Given the description of an element on the screen output the (x, y) to click on. 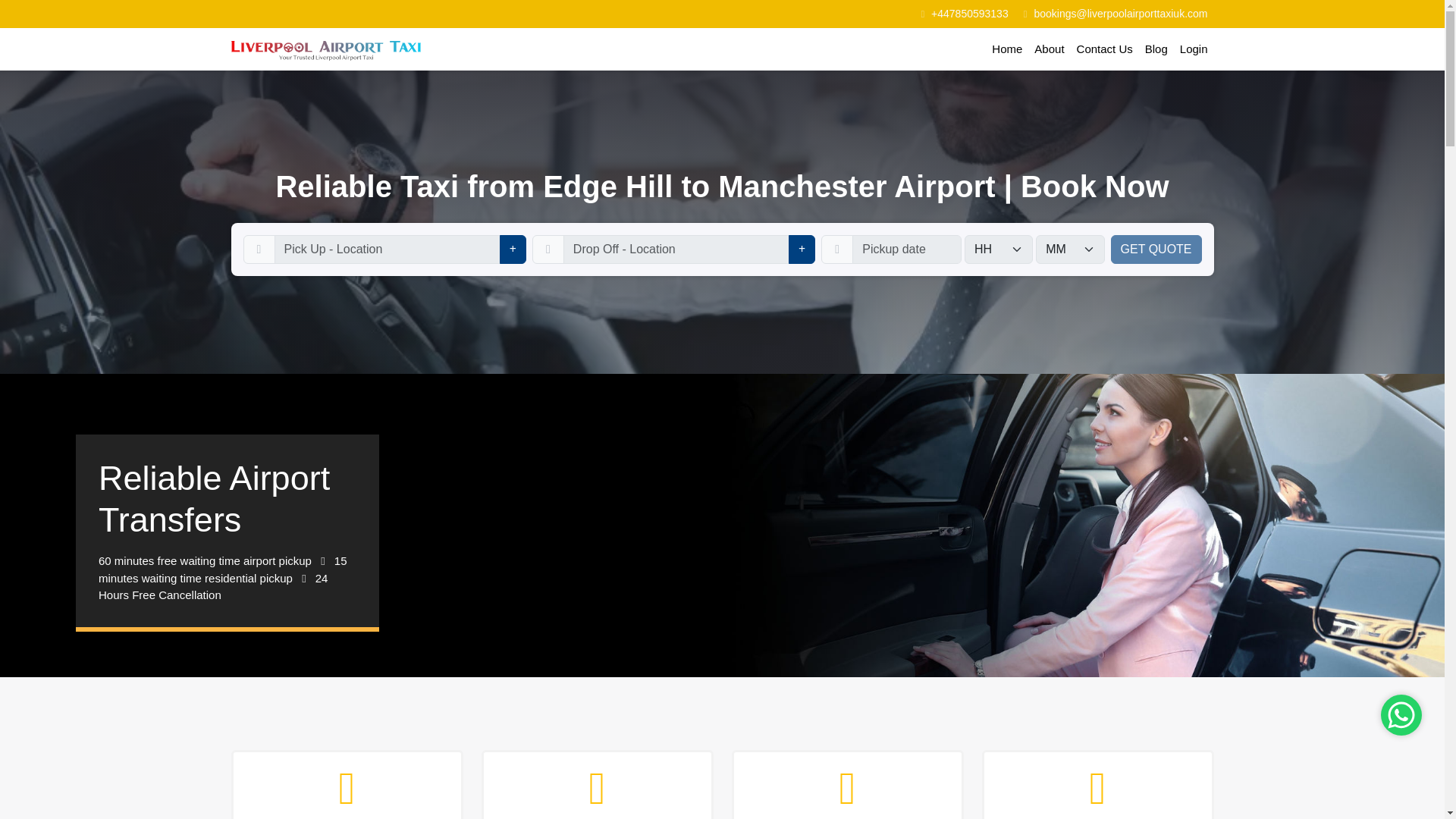
GET QUOTE (1156, 249)
Home (1006, 49)
About (1048, 49)
Blog (1155, 49)
Contact Us (1104, 49)
Blog (1155, 49)
Login (1193, 49)
